Given the description of an element on the screen output the (x, y) to click on. 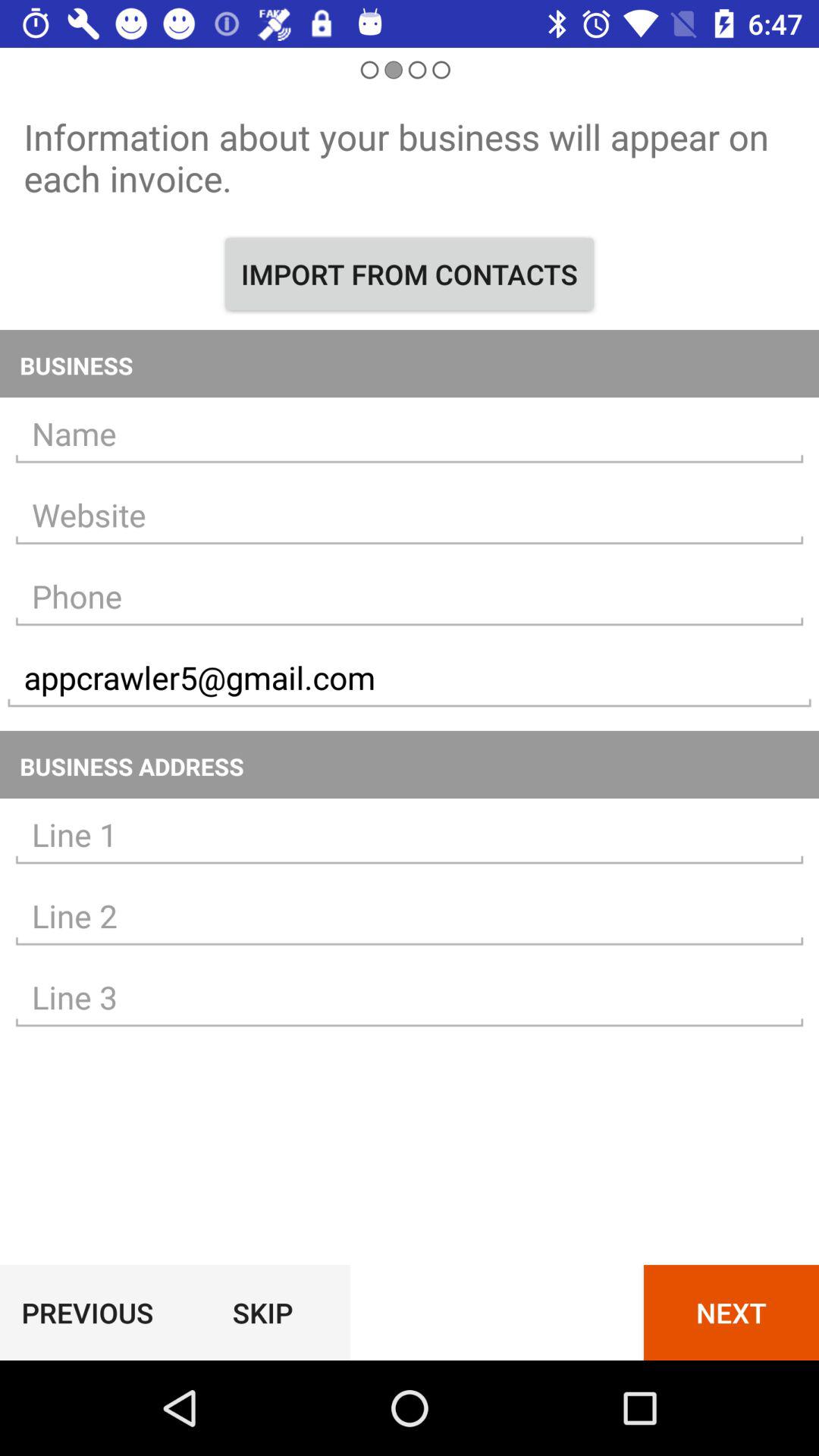
line3 (409, 997)
